Given the description of an element on the screen output the (x, y) to click on. 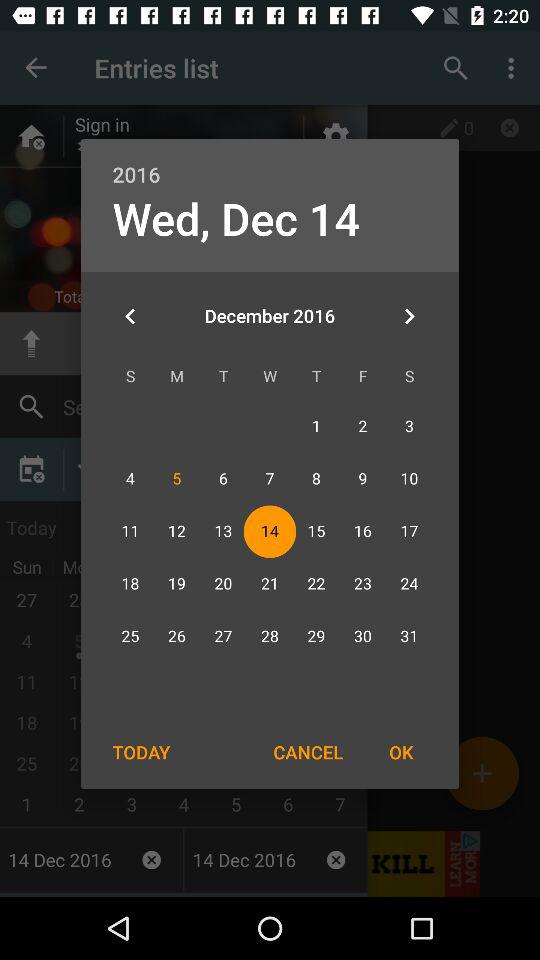
turn on item next to cancel item (141, 751)
